Given the description of an element on the screen output the (x, y) to click on. 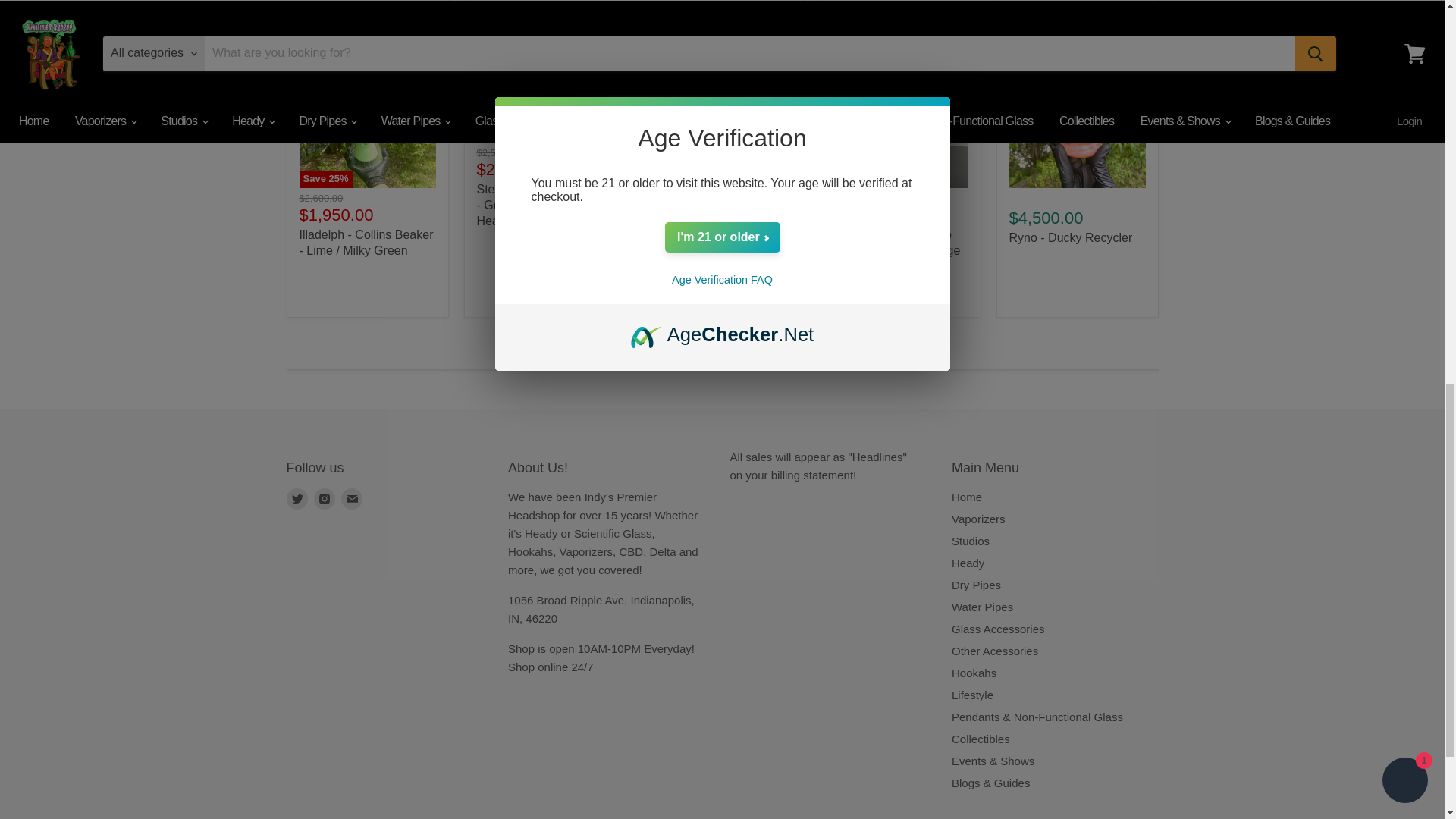
Twitter (296, 498)
Email (351, 498)
Instagram (324, 498)
